Given the description of an element on the screen output the (x, y) to click on. 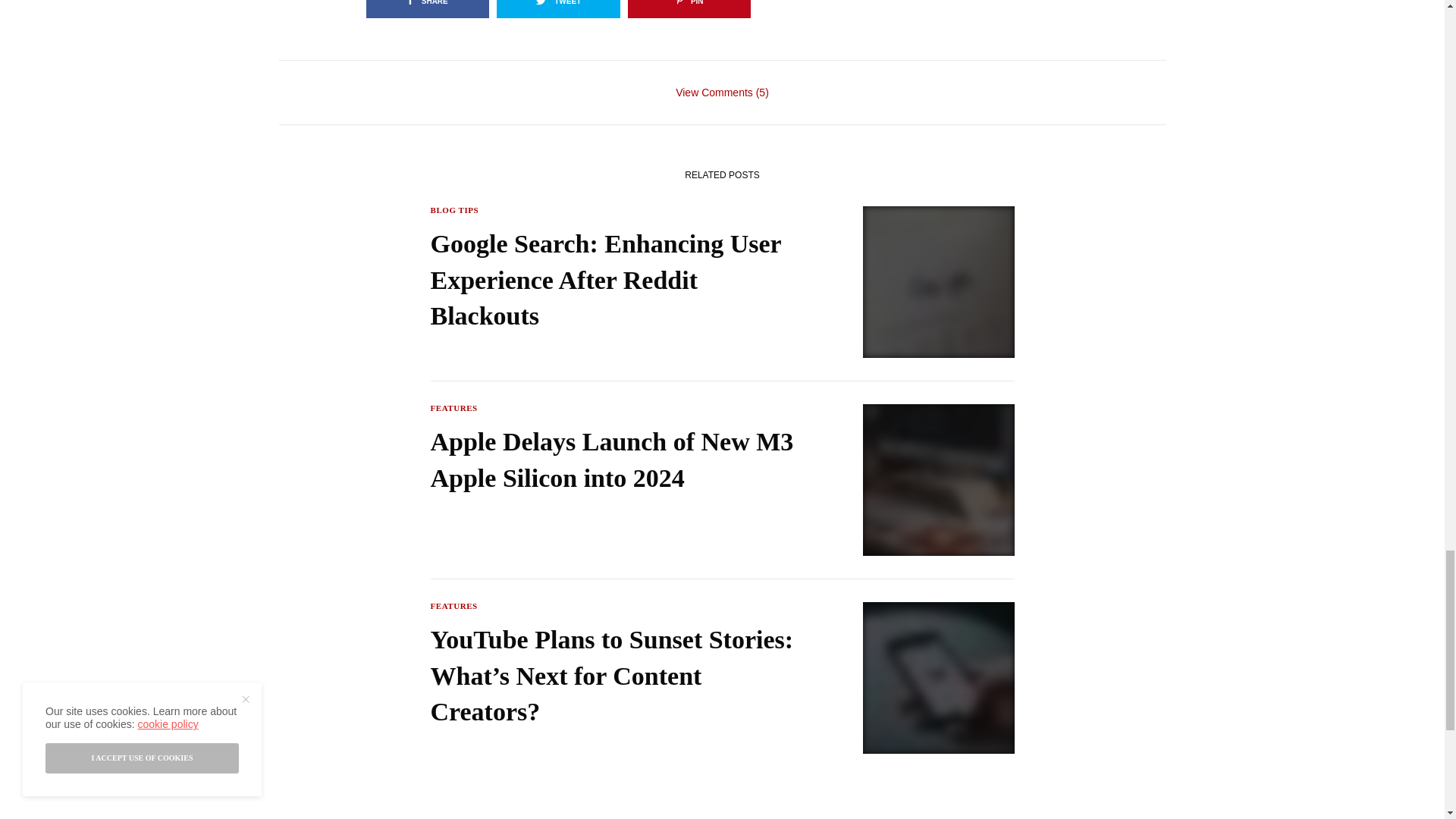
SHARE (427, 9)
TWEET (558, 9)
PIN (689, 9)
